Given the description of an element on the screen output the (x, y) to click on. 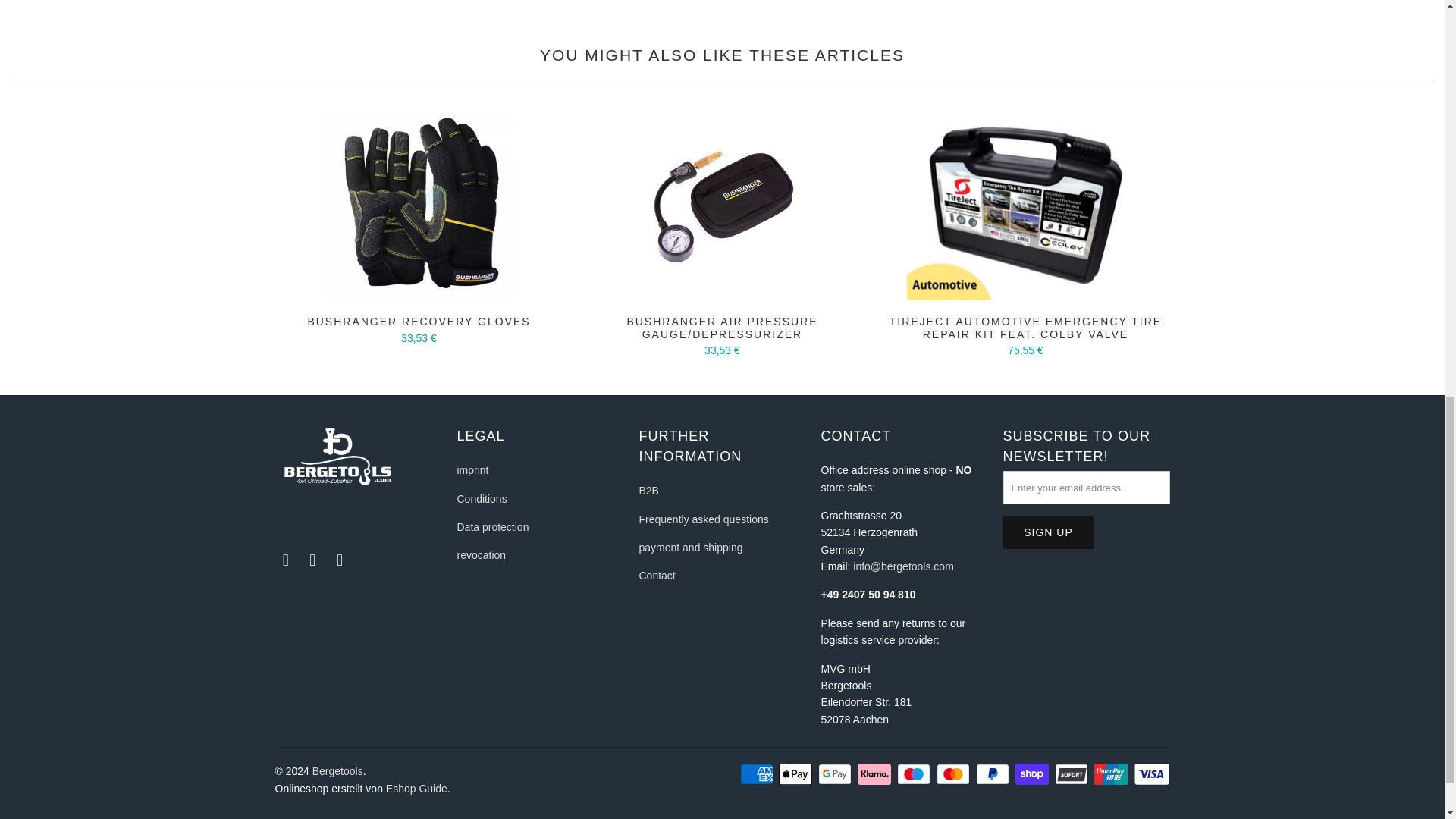
Mastercard (954, 773)
American Express (757, 773)
Sign Up (1048, 531)
SOFORT (1072, 773)
Shop Pay (1032, 773)
Google Pay (836, 773)
Klarna (875, 773)
Bergetools on Facebook (286, 560)
Apple Pay (796, 773)
Visa (1150, 773)
Union Pay (1112, 773)
Maestro (914, 773)
Email Bergetools (340, 560)
Bergetools on Instagram (312, 560)
PayPal (993, 773)
